Given the description of an element on the screen output the (x, y) to click on. 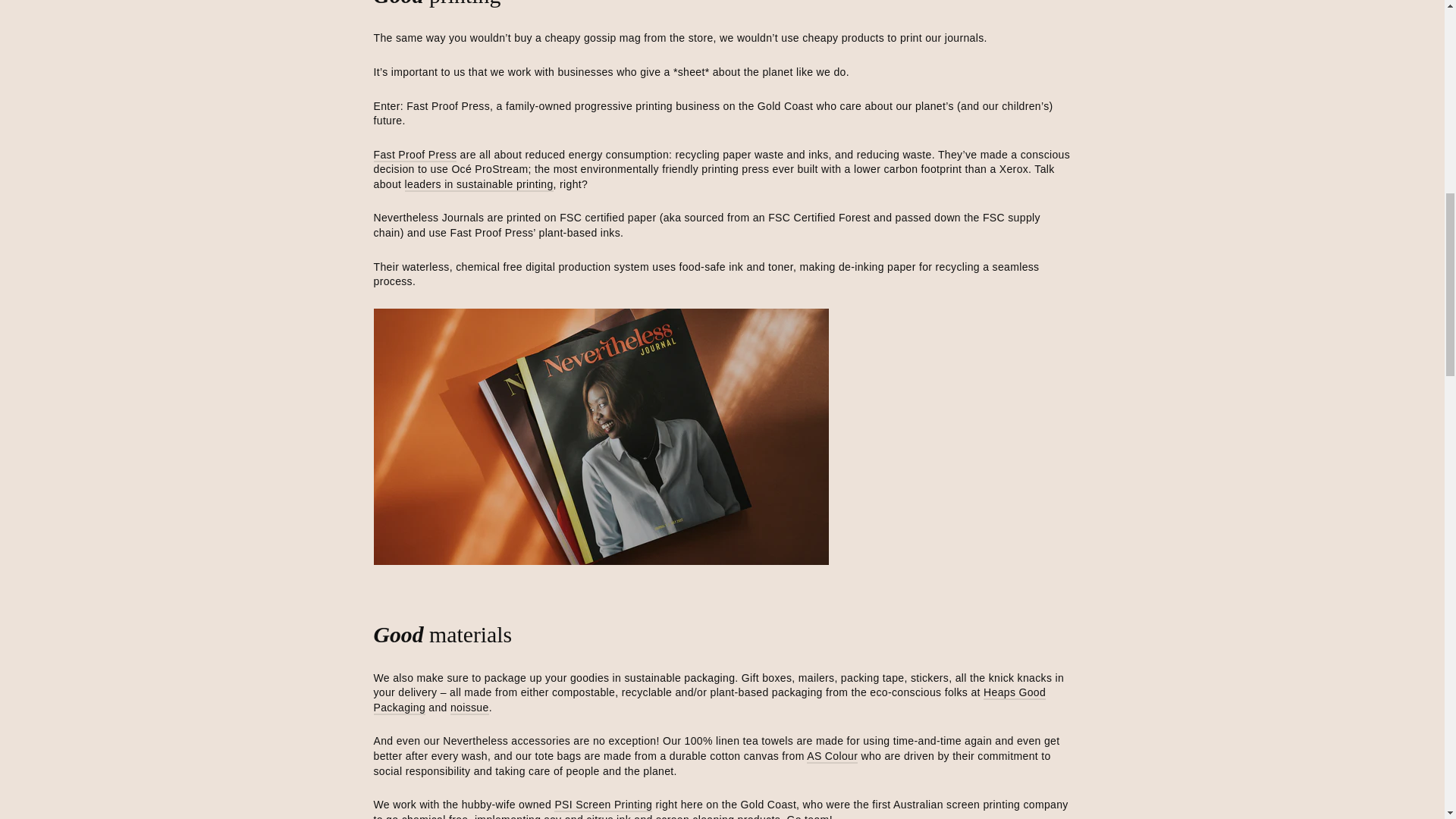
leaders in sustainable printing (478, 184)
PSI Screen Printing (603, 805)
Heaps Good Packaging (708, 700)
Fast Proof Press (414, 155)
noissue (469, 707)
AS Colour (831, 756)
